Given the description of an element on the screen output the (x, y) to click on. 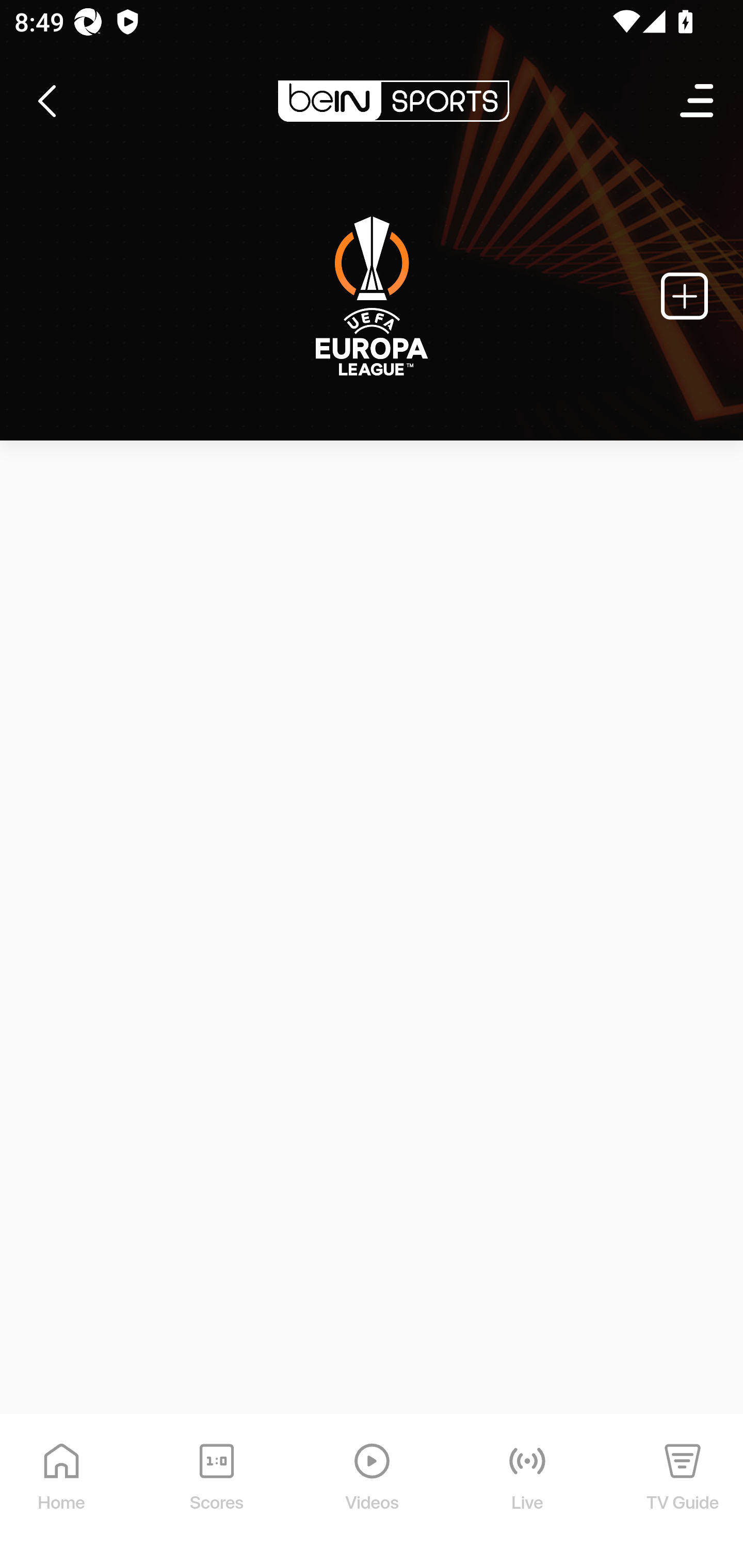
en-my?platform=mobile_android bein logo white (392, 101)
icon back (46, 101)
Open Menu Icon (697, 101)
Home Home Icon Home (61, 1491)
Scores Scores Icon Scores (216, 1491)
Videos Videos Icon Videos (372, 1491)
TV Guide TV Guide Icon TV Guide (682, 1491)
